Given the description of an element on the screen output the (x, y) to click on. 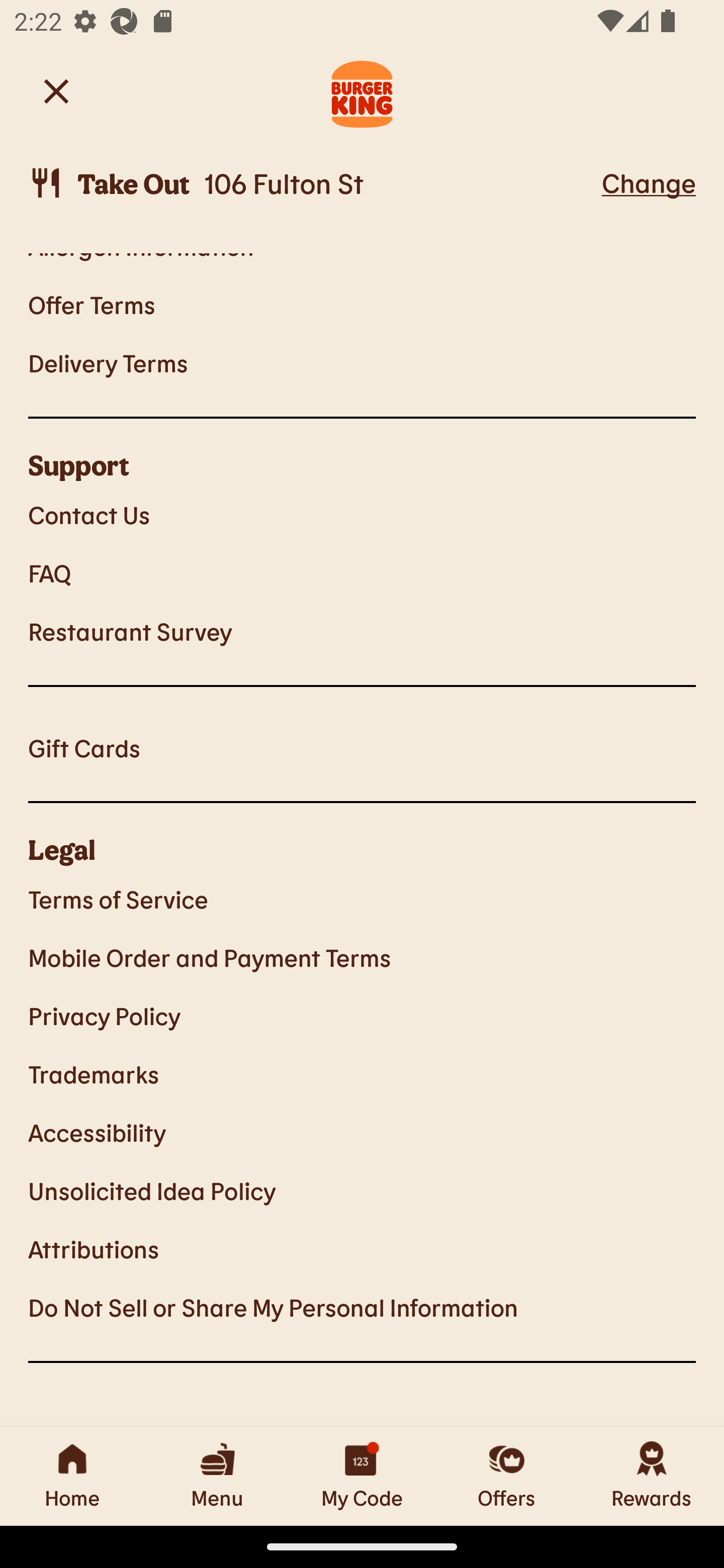
Burger King Logo. Navigate to Home (362, 91)
Back  (56, 90)
Take Out, 106 Fulton St  Take Out 106 Fulton St (311, 183)
Change (648, 182)
Offer Terms (361, 304)
Delivery Terms (361, 362)
Contact Us (361, 514)
FAQ (361, 573)
Restaurant Survey (361, 631)
Gift Cards (361, 747)
Terms of Service (361, 899)
Mobile Order and Payment Terms (361, 957)
Privacy Policy (361, 1015)
Trademarks (361, 1073)
Accessibility (361, 1131)
Unsolicited Idea Policy  (361, 1189)
Attributions (361, 1248)
Do Not Sell or Share My Personal Information (361, 1307)
Home (72, 1475)
Menu (216, 1475)
My Code (361, 1475)
Offers (506, 1475)
Rewards (651, 1475)
